Given the description of an element on the screen output the (x, y) to click on. 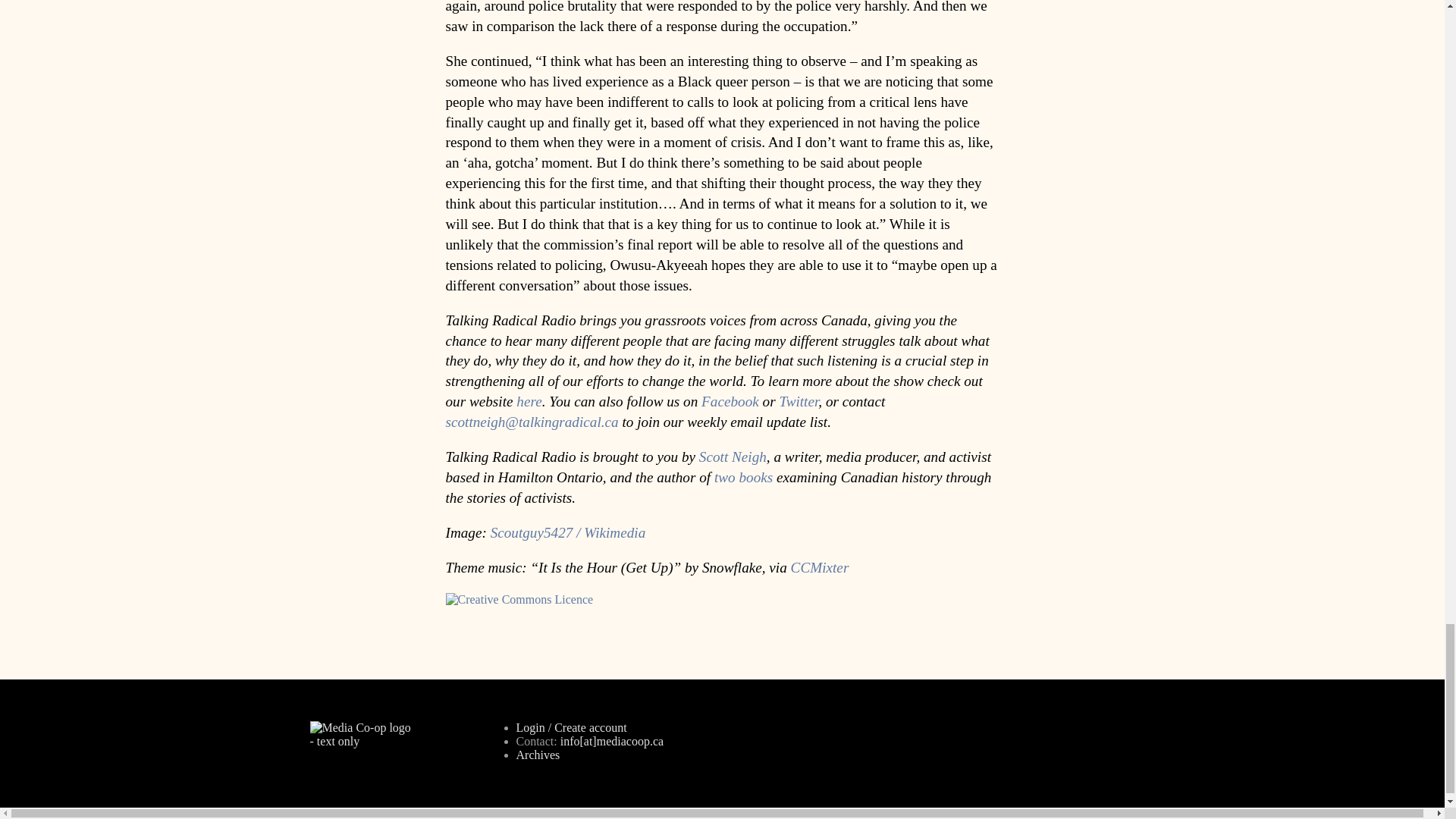
Twitter (798, 401)
here (528, 401)
Scott Neigh (732, 456)
two books (743, 477)
Archives (537, 754)
CCMixter (819, 567)
Facebook (729, 401)
